Given the description of an element on the screen output the (x, y) to click on. 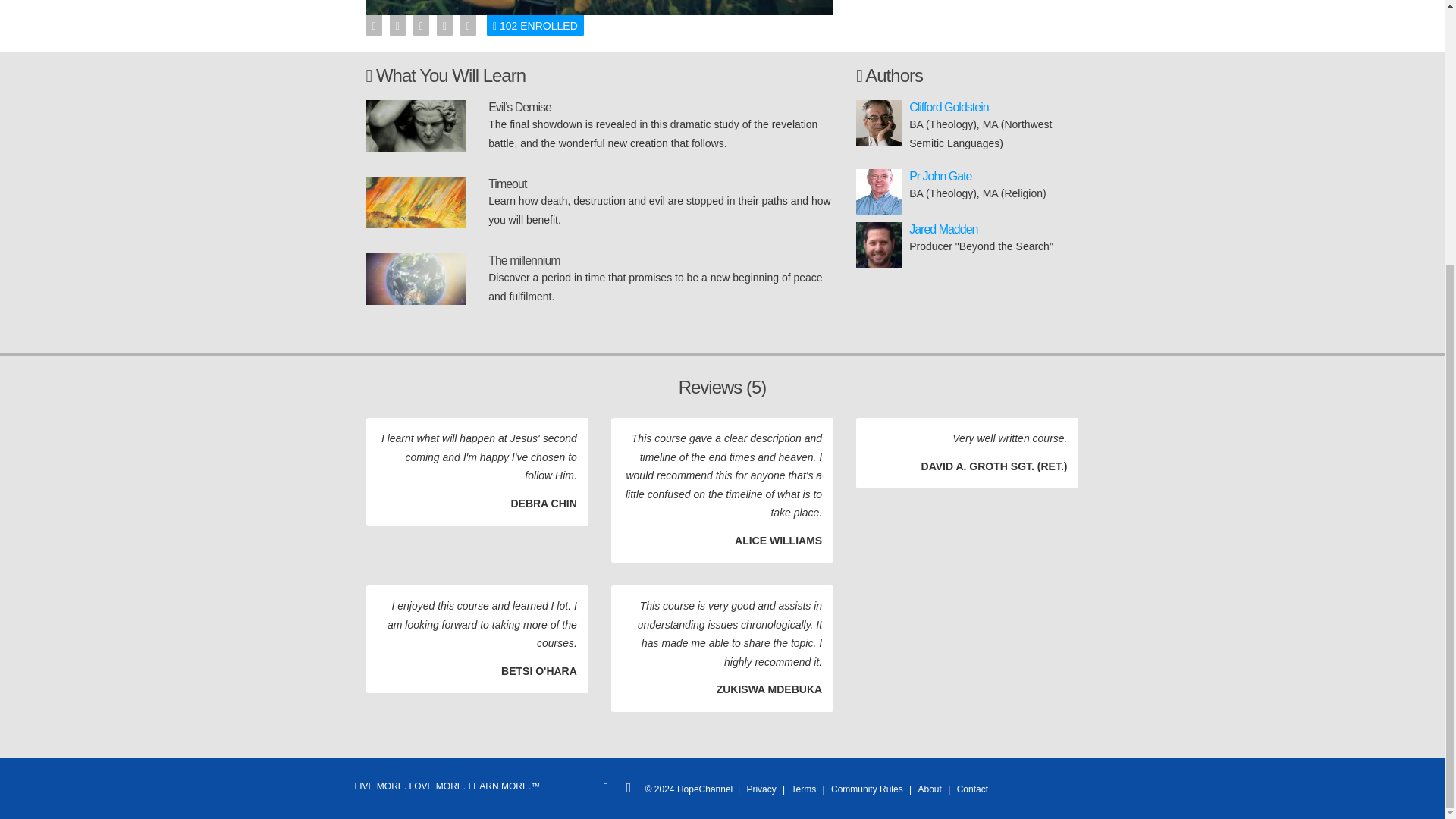
Terms (804, 789)
Privacy (760, 789)
Pr John Gate (939, 175)
About (929, 789)
Community Rules (867, 789)
Contact (972, 789)
Clifford Goldstein (948, 106)
Jared Madden (942, 228)
